Given the description of an element on the screen output the (x, y) to click on. 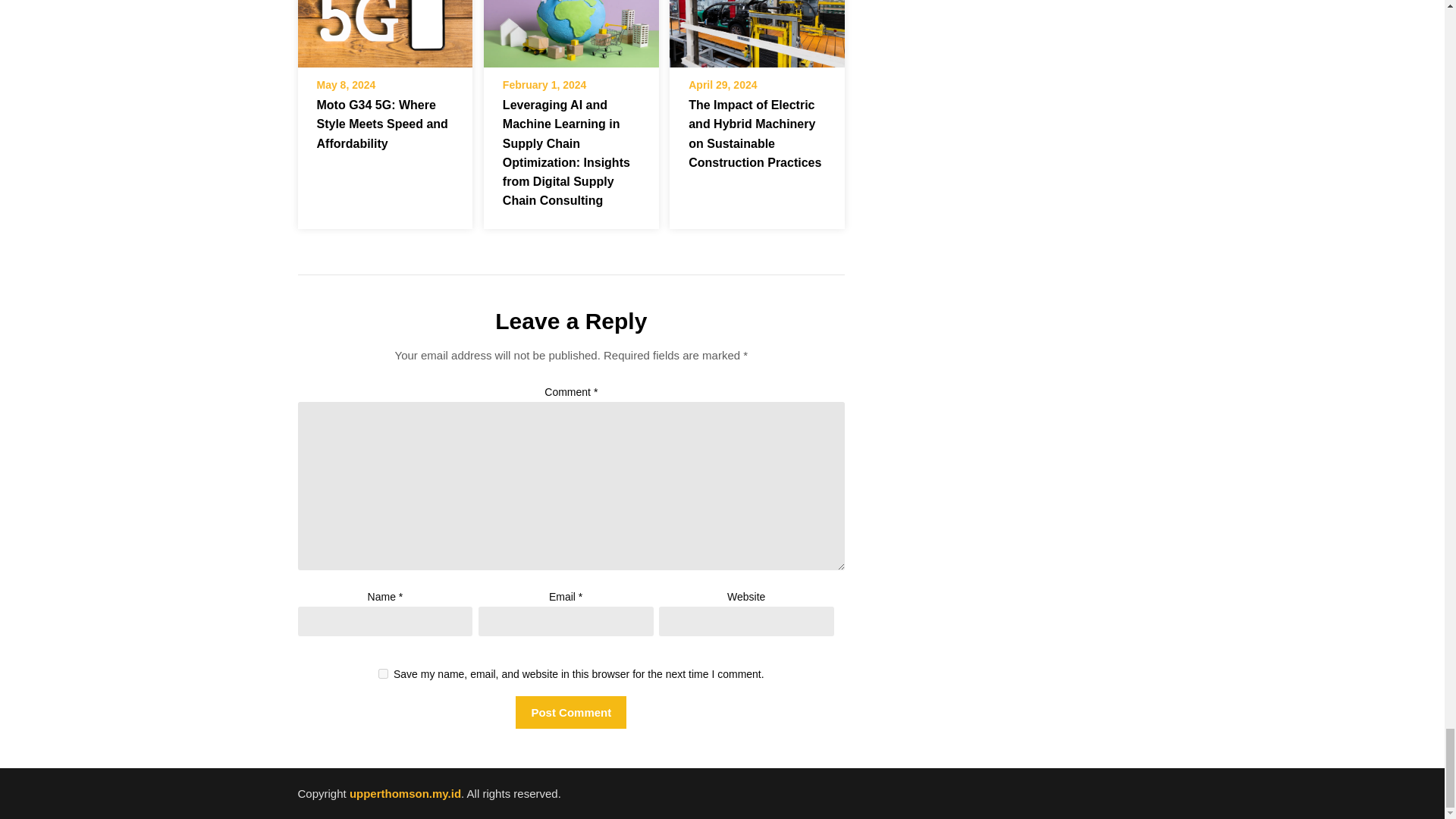
Moto G34 5G: Where Style Meets Speed and Affordability (384, 12)
Post Comment (570, 712)
yes (383, 673)
Moto G34 5G: Where Style Meets Speed and Affordability (382, 123)
Moto G34 5G: Where Style Meets Speed and Affordability (384, 33)
Post Comment (570, 712)
